Given the description of an element on the screen output the (x, y) to click on. 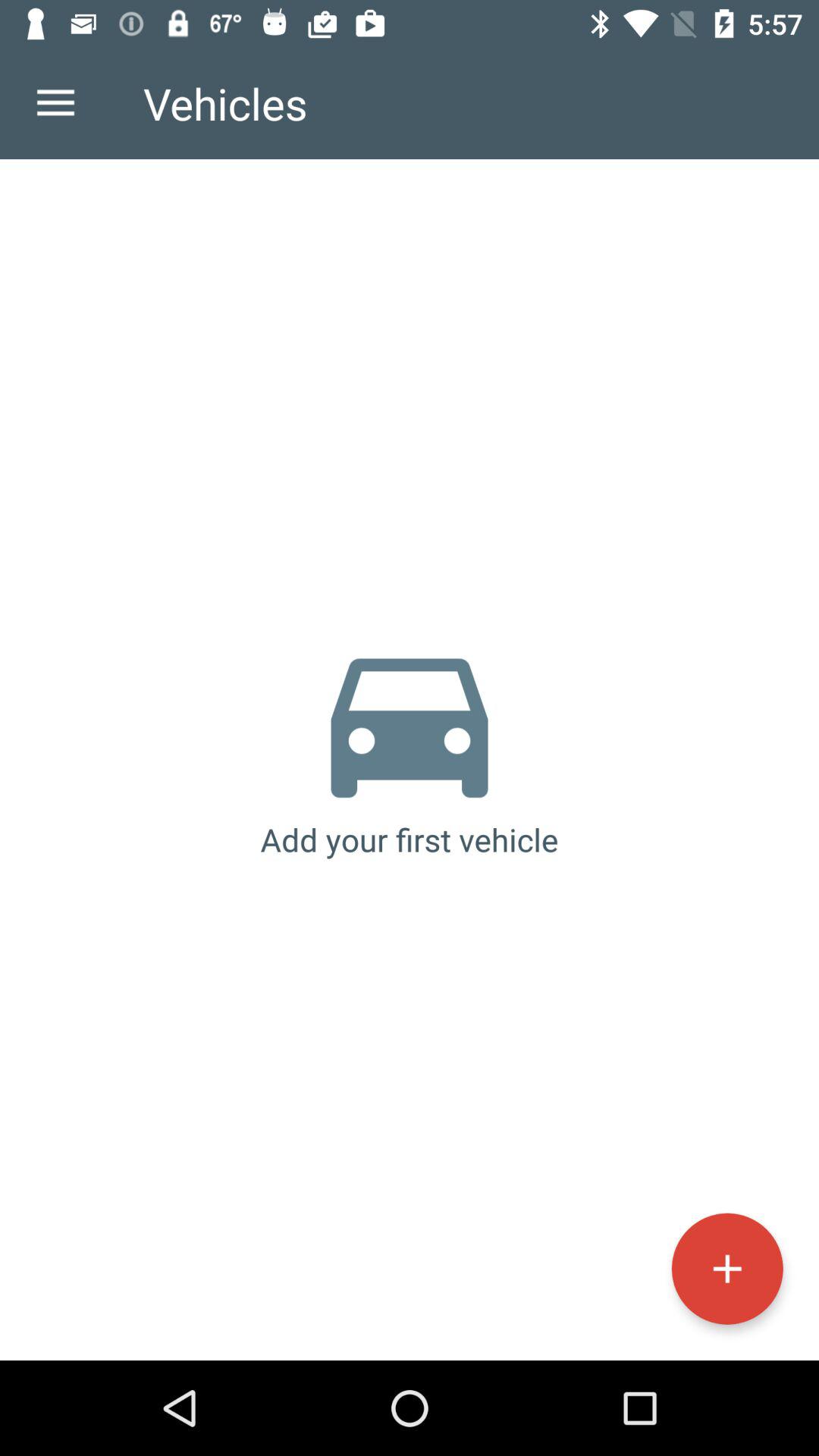
open the icon next to the vehicles icon (55, 103)
